Given the description of an element on the screen output the (x, y) to click on. 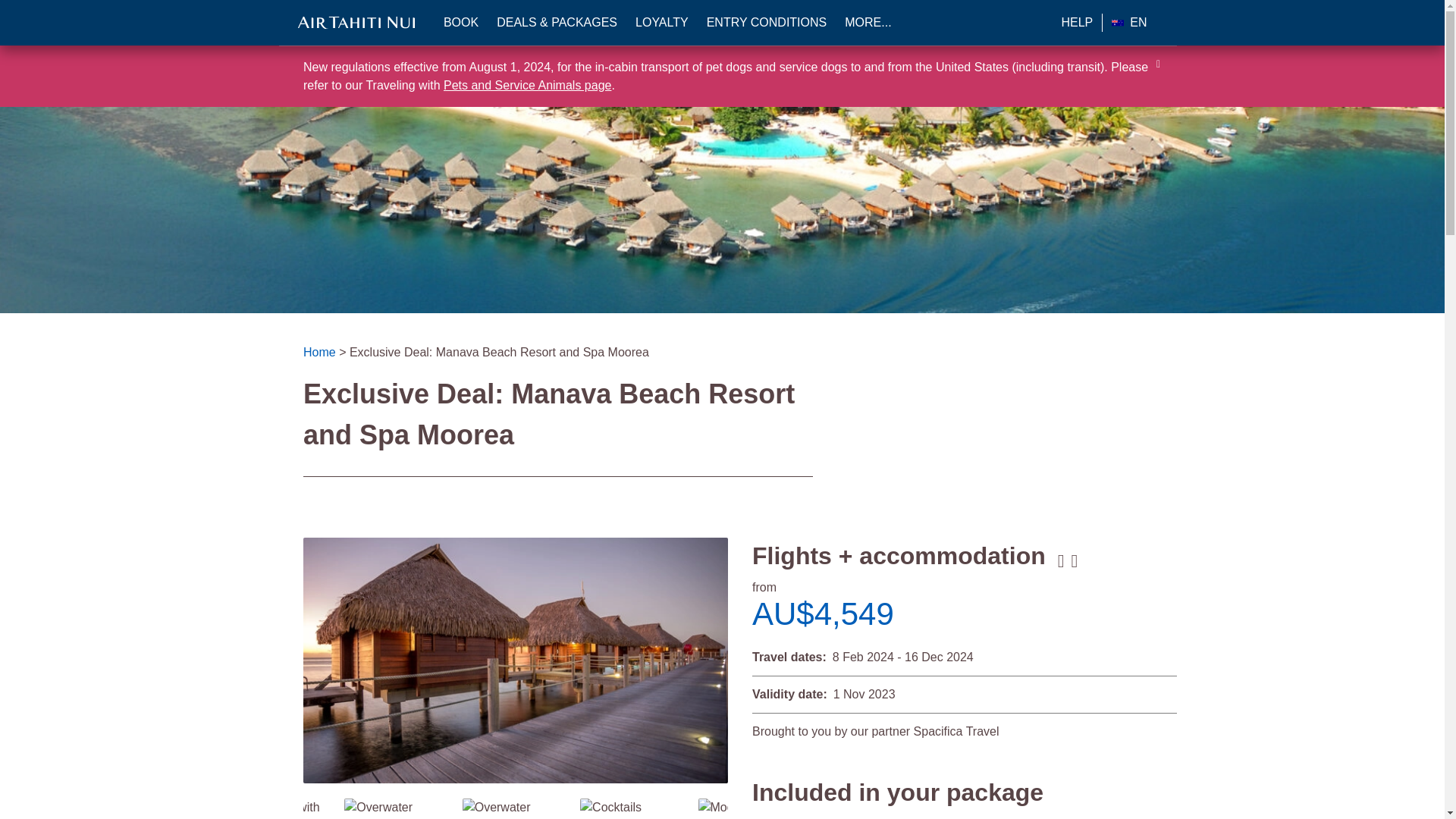
MORE... (867, 22)
Spacifica Travel Manava Beach Resort and Spa Moorea (742, 807)
LOYALTY (661, 22)
Spacifica Travel Manava Beach Resort and Spa Moorea (610, 807)
Sign in (406, 415)
Spacifica Travel Manava Beach Resort and Spa Moorea (515, 659)
BOOK (461, 22)
Spacifica Travel Manava Beach Resort and Spa Moorea (513, 808)
Spacifica Travel Manava Beach Resort and Spa Moorea (394, 808)
